Given the description of an element on the screen output the (x, y) to click on. 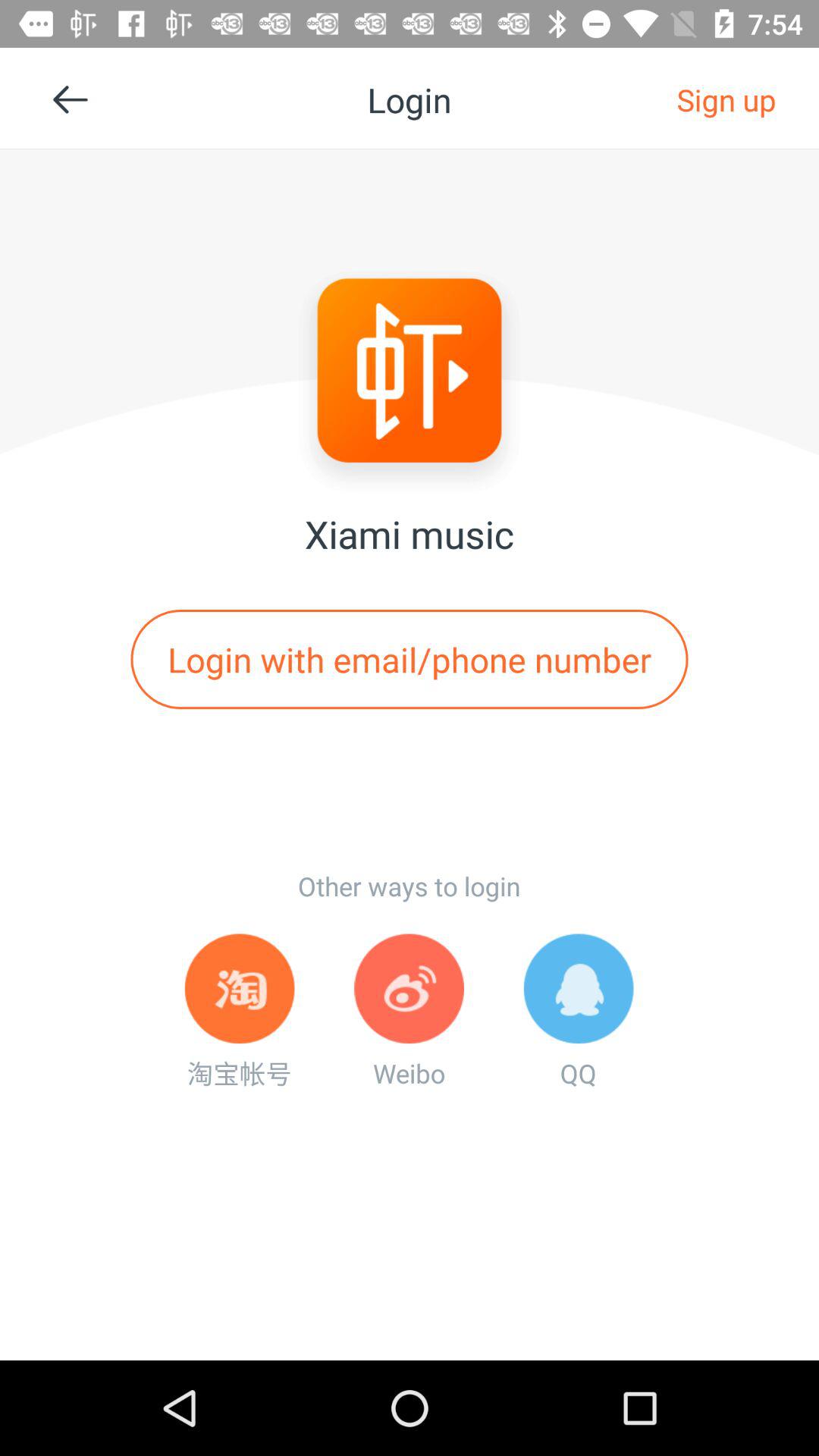
jump to login with email app (409, 659)
